Given the description of an element on the screen output the (x, y) to click on. 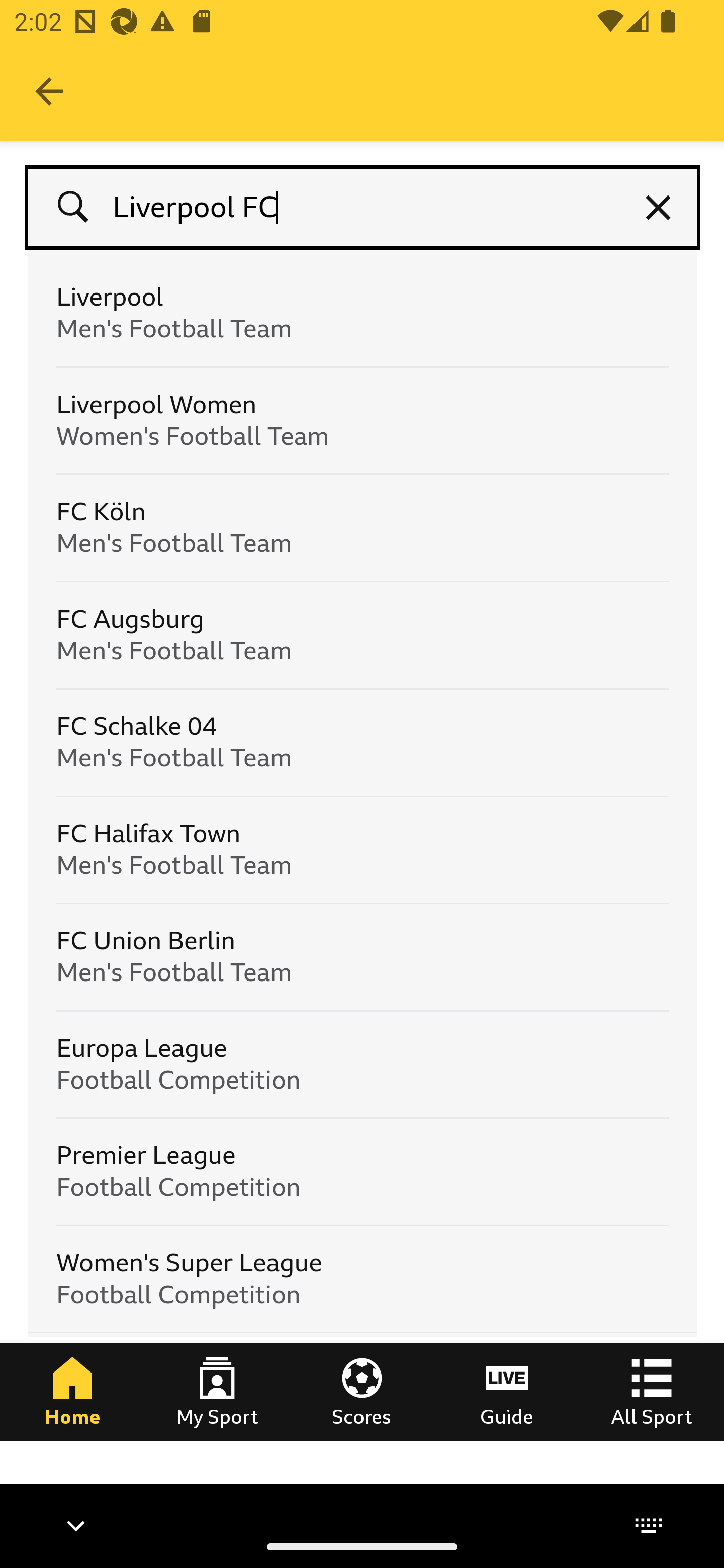
Navigate up (49, 91)
Liverpool FC (363, 208)
Clear (658, 208)
My Sport (216, 1391)
Scores (361, 1391)
Guide (506, 1391)
All Sport (651, 1391)
